Given the description of an element on the screen output the (x, y) to click on. 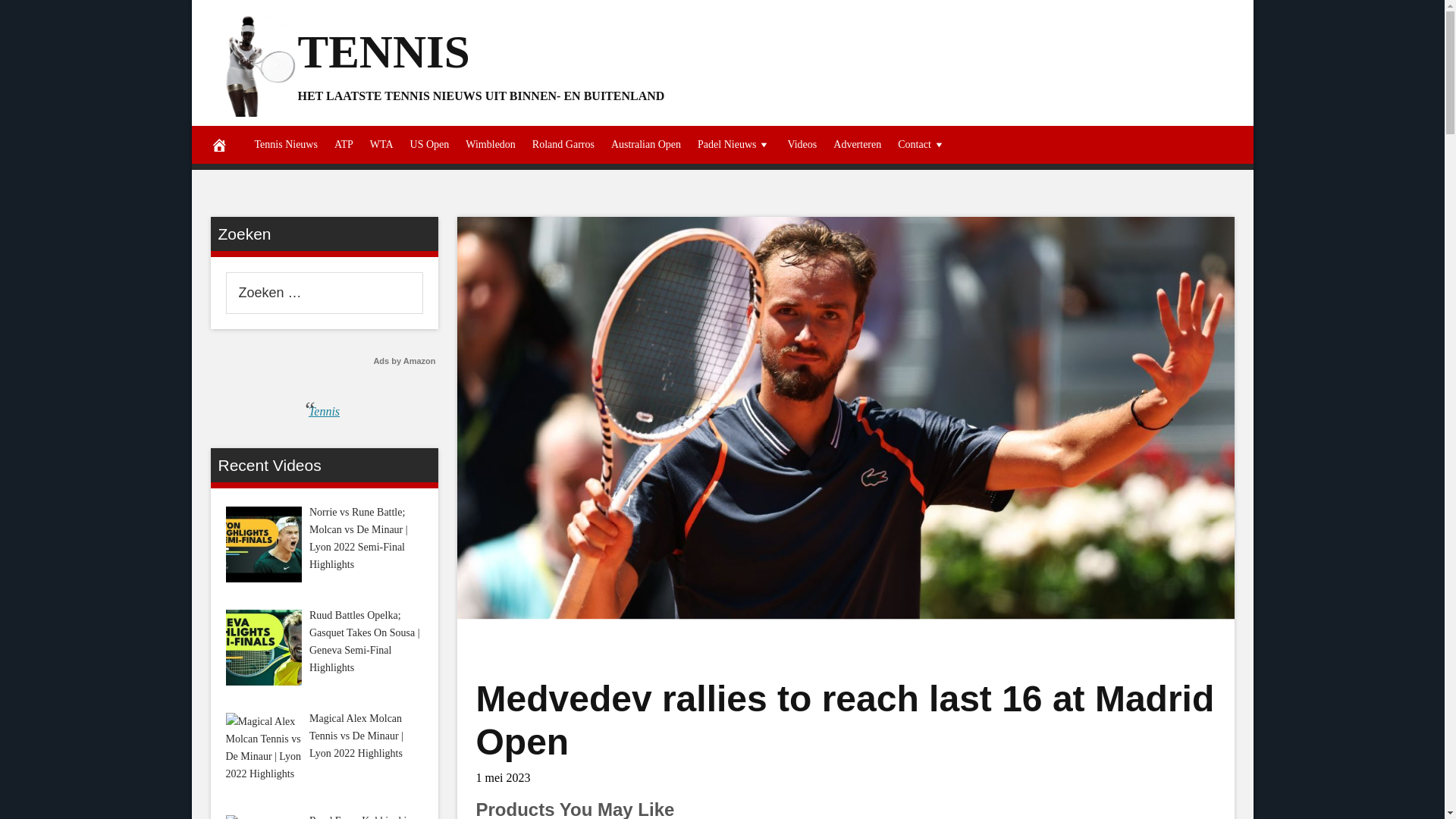
ATP (343, 144)
Wimbledon (490, 144)
Padel Nieuws (733, 144)
Australian Open (645, 144)
TENNIS (382, 50)
WTA (381, 144)
US Open (429, 144)
